Given the description of an element on the screen output the (x, y) to click on. 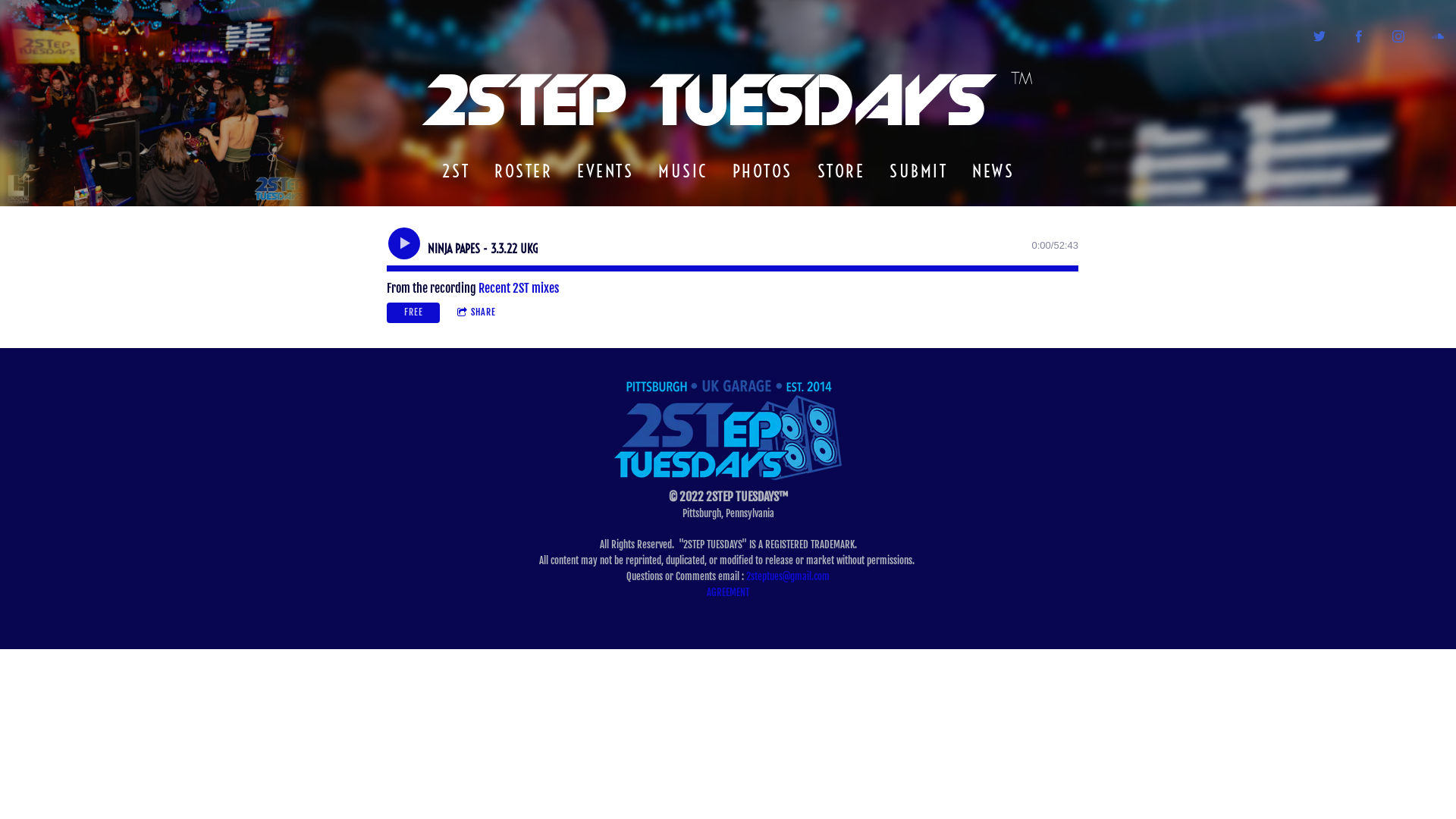
ROSTER Element type: text (523, 170)
PHOTOS Element type: text (761, 170)
SHARE Element type: text (476, 312)
AGREEMENT Element type: text (727, 592)
http://facebook.com/2steptues Element type: hover (1358, 36)
FREE Element type: text (412, 312)
https://soundcloud.com/2steptues Element type: hover (1437, 36)
EVENTS Element type: text (605, 170)
NEWS Element type: text (992, 170)
https://instagram.com/2step Element type: hover (1398, 36)
MUSIC Element type: text (682, 170)
SUBMIT Element type: text (918, 170)
Recent 2ST mixes Element type: text (518, 287)
http://twitter.com/2StepTues Element type: hover (1319, 36)
STORE Element type: text (840, 170)
Play Element type: hover (404, 243)
2ST Element type: text (455, 170)
2steptues@gmail.com Element type: text (787, 576)
